Given the description of an element on the screen output the (x, y) to click on. 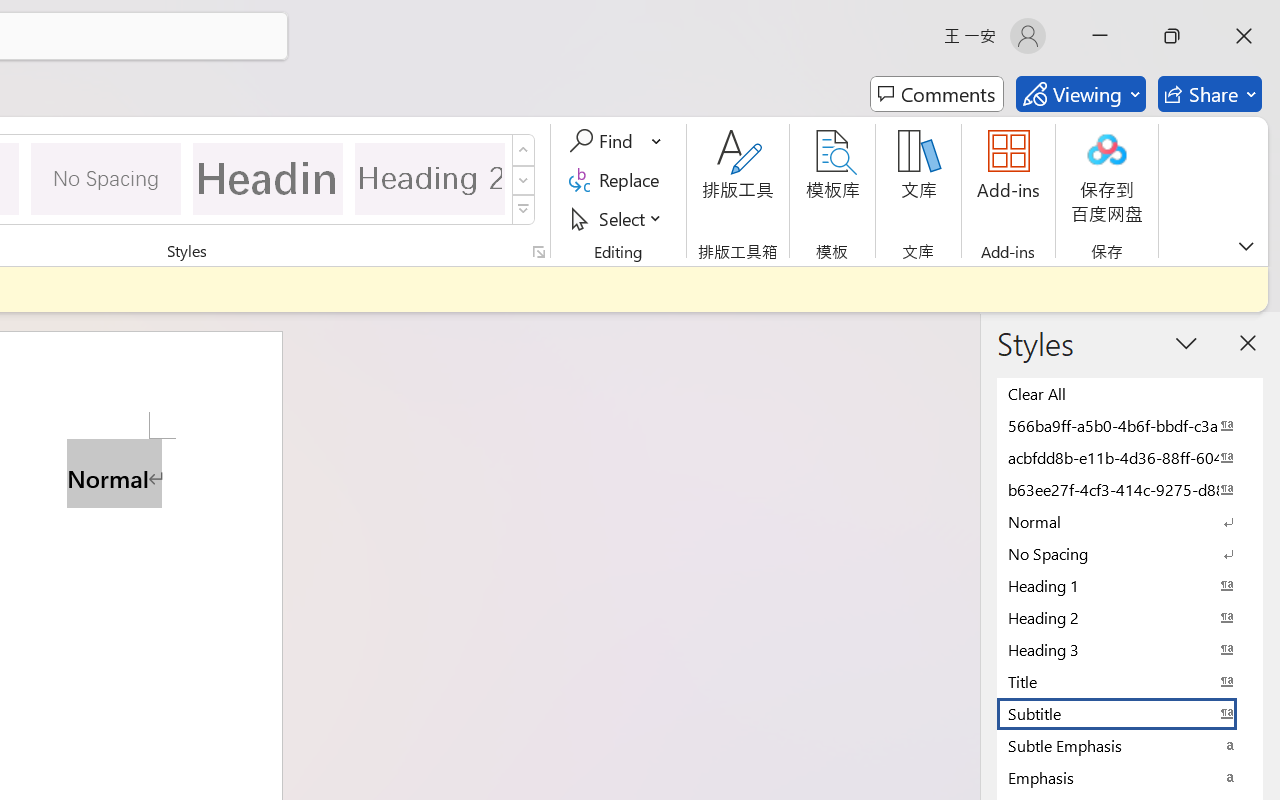
Task Pane Options (1186, 343)
Replace... (617, 179)
Styles (523, 209)
Emphasis (1130, 777)
Heading 3 (1130, 649)
566ba9ff-a5b0-4b6f-bbdf-c3ab41993fc2 (1130, 425)
